Given the description of an element on the screen output the (x, y) to click on. 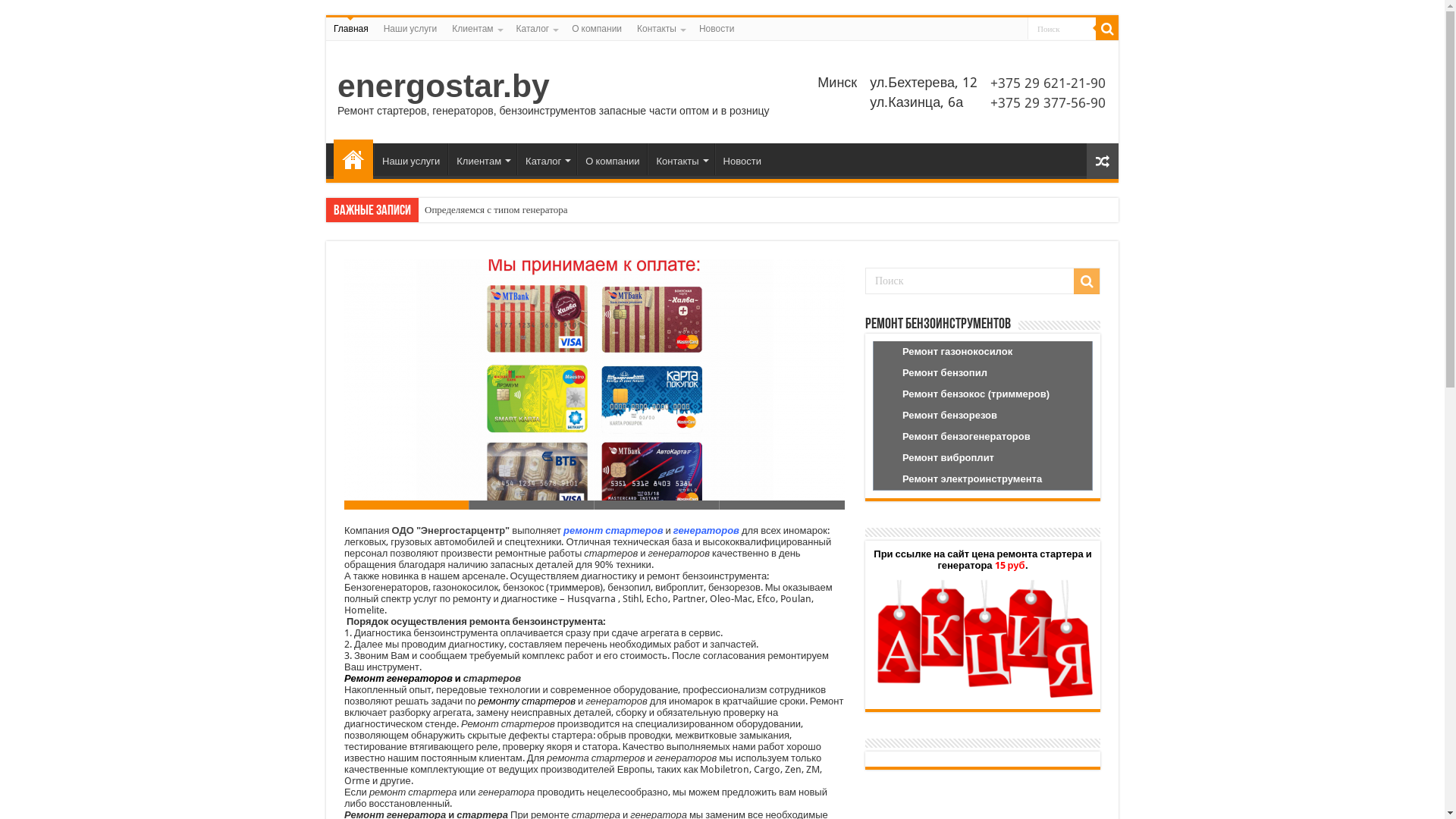
+375 29 621-21-90 Element type: text (1047, 82)
4 Element type: text (781, 505)
1 Element type: text (406, 505)
+375 29 377-56-90 Element type: text (1047, 101)
3 Element type: text (656, 505)
2 Element type: text (531, 505)
energostar.by Element type: text (443, 85)
